Given the description of an element on the screen output the (x, y) to click on. 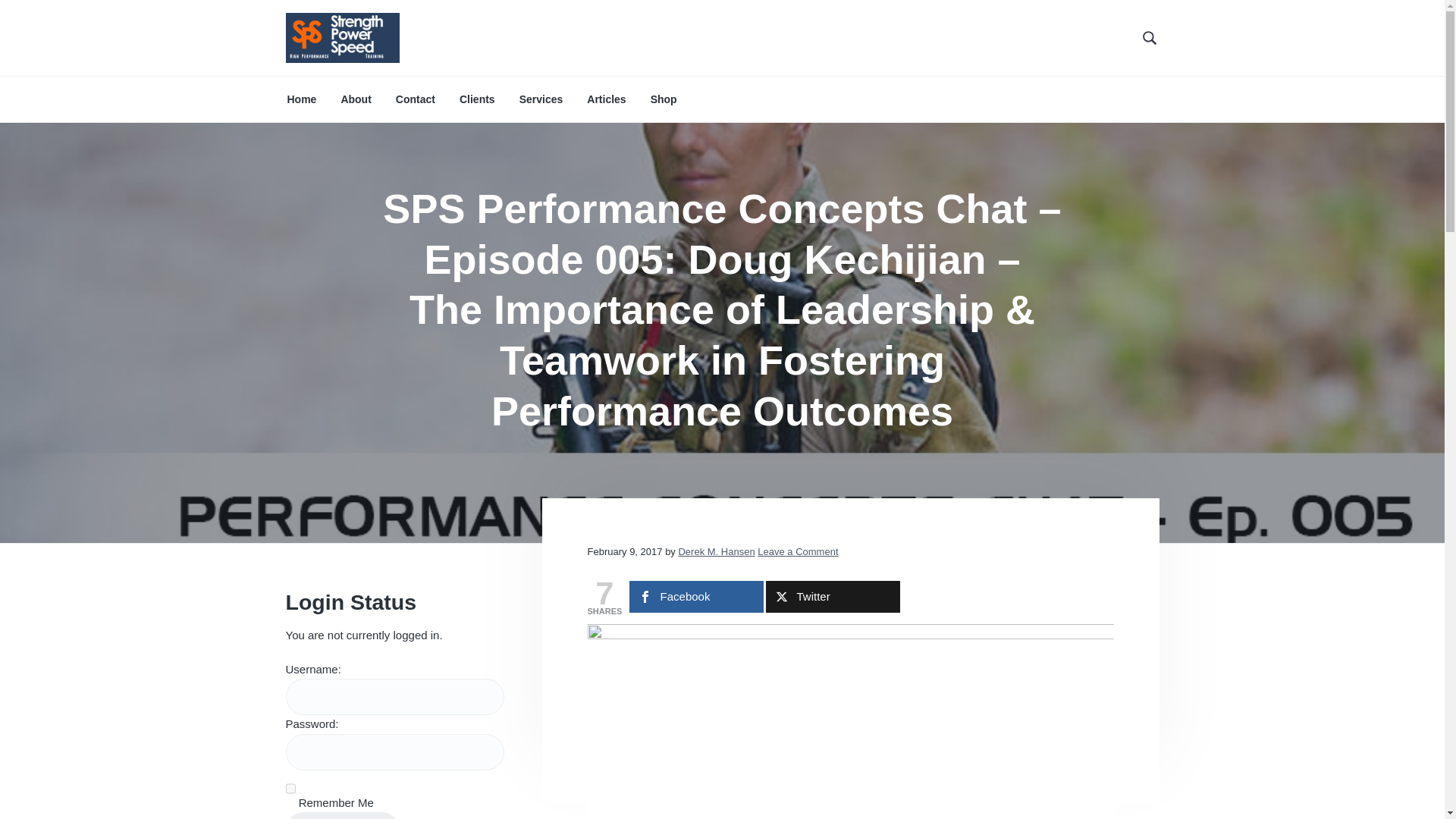
Articles (606, 99)
Shop (663, 99)
Login (341, 815)
Clients (477, 99)
Twitter (832, 596)
Search (60, 18)
Contact (415, 99)
Leave a Comment (797, 551)
About (355, 99)
Services (541, 99)
Home (300, 99)
Facebook (695, 596)
Derek M. Hansen (716, 551)
